Given the description of an element on the screen output the (x, y) to click on. 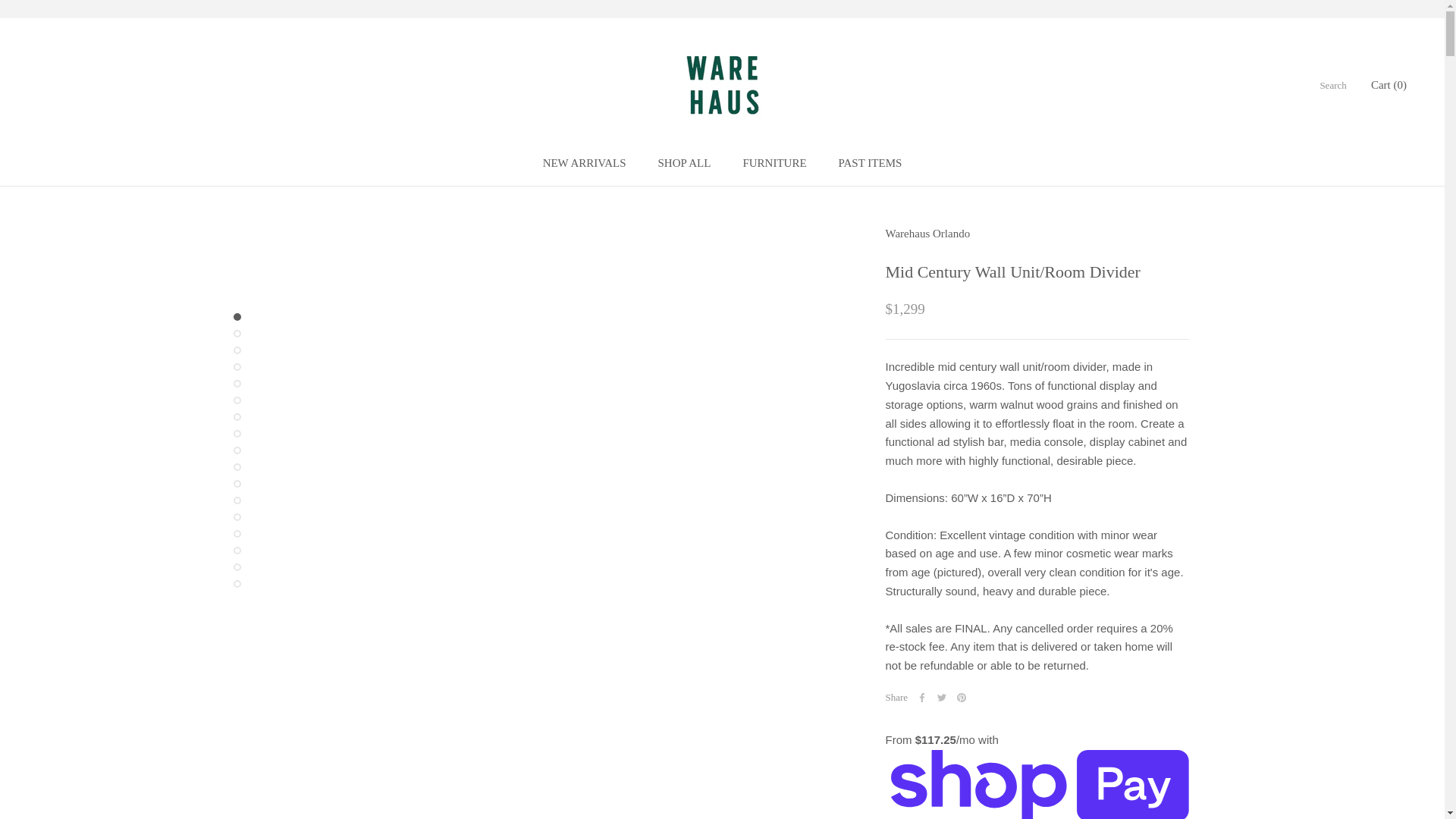
Search (870, 162)
FURNITURE (1332, 84)
